Given the description of an element on the screen output the (x, y) to click on. 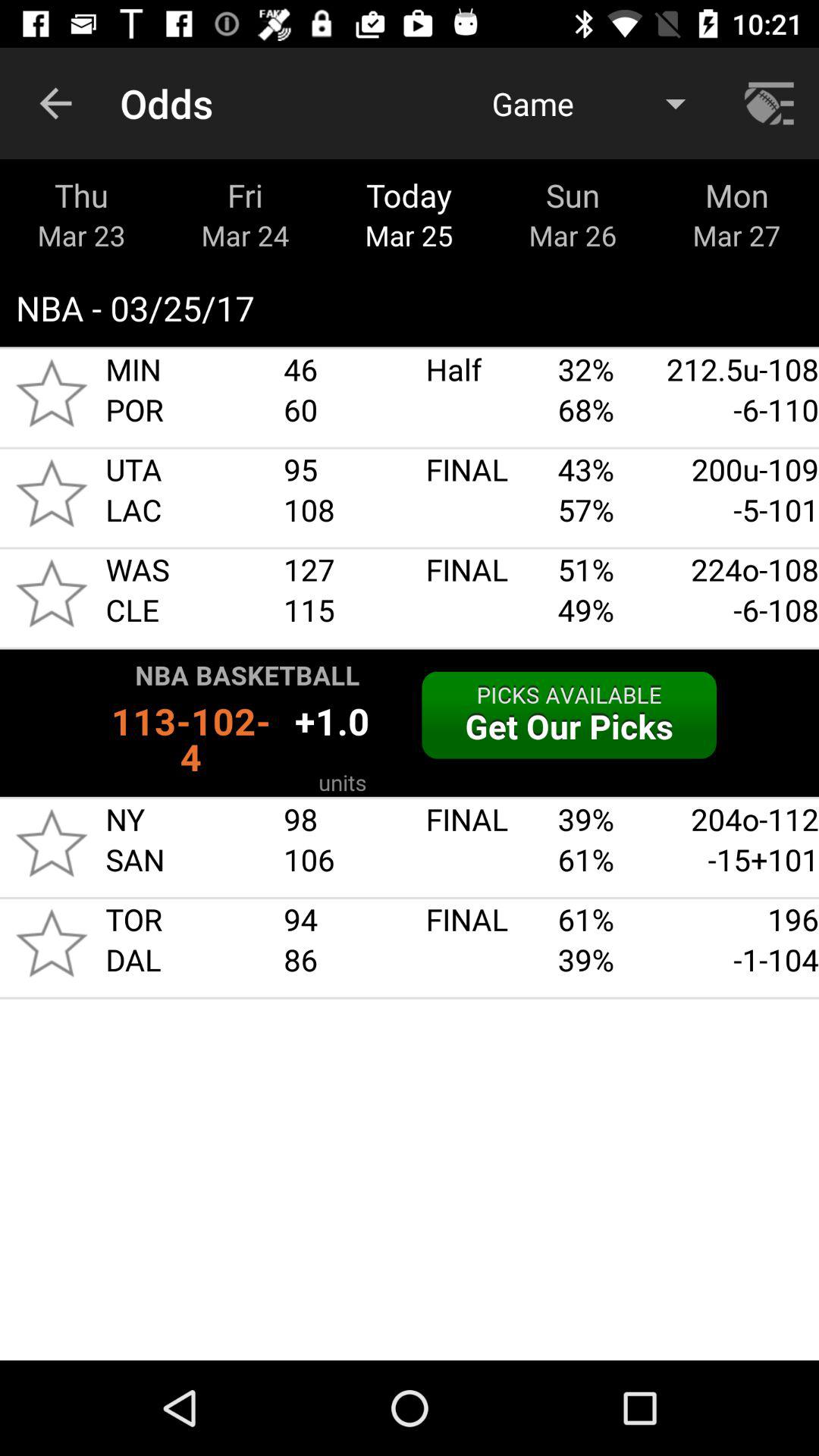
bookmark game (51, 842)
